Given the description of an element on the screen output the (x, y) to click on. 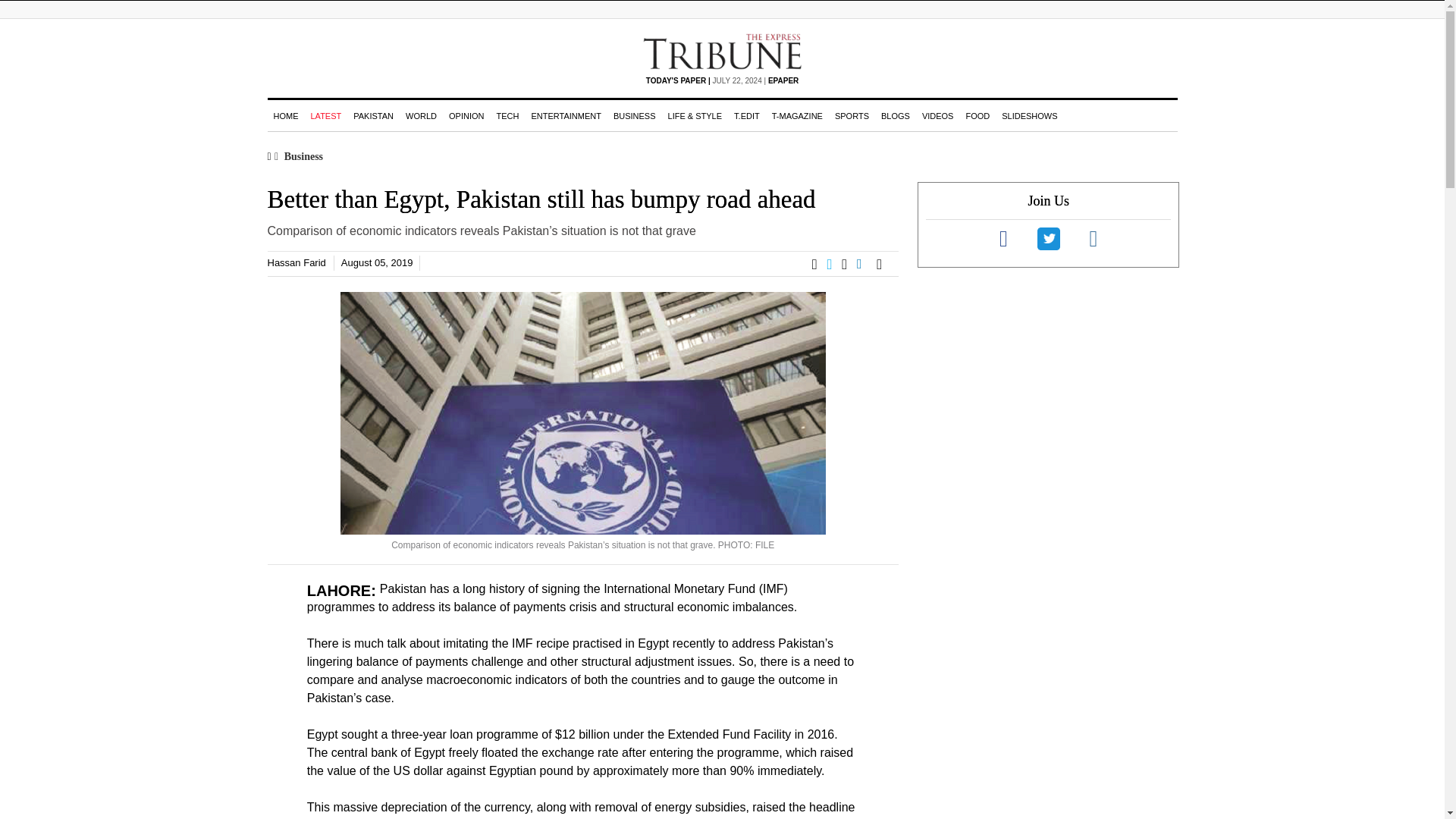
EMAIL (883, 264)
ENTERTAINMENT (565, 114)
BUSINESS (634, 114)
OPINION (465, 114)
TWITTER (834, 264)
HOME (285, 114)
EPAPER (782, 80)
Hassan Farid (295, 262)
SPORTS (851, 114)
LATEST (325, 114)
WORLD (420, 114)
SLIDESHOWS (1028, 114)
TECH (506, 114)
BLOGS (895, 114)
